Given the description of an element on the screen output the (x, y) to click on. 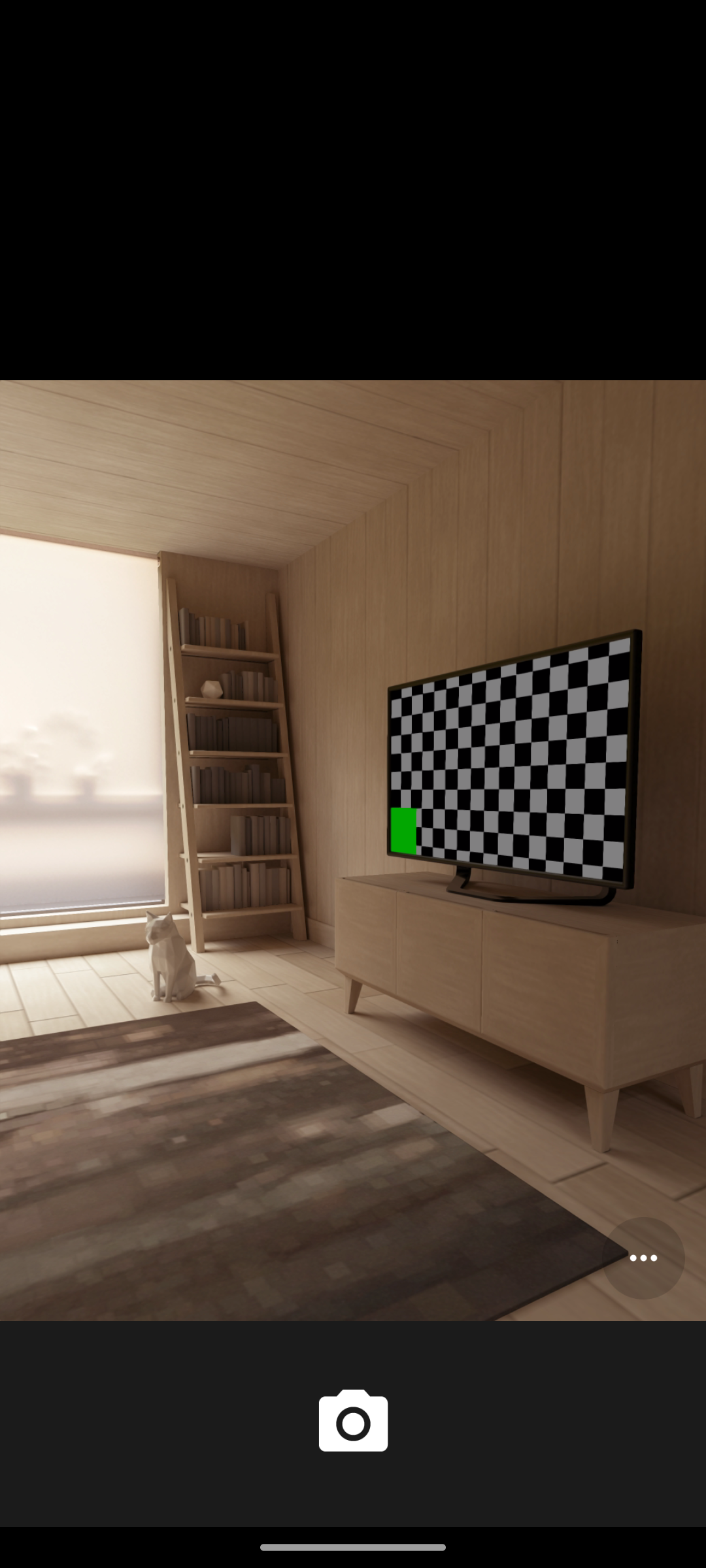
Options (643, 1257)
Shutter (353, 1423)
